Given the description of an element on the screen output the (x, y) to click on. 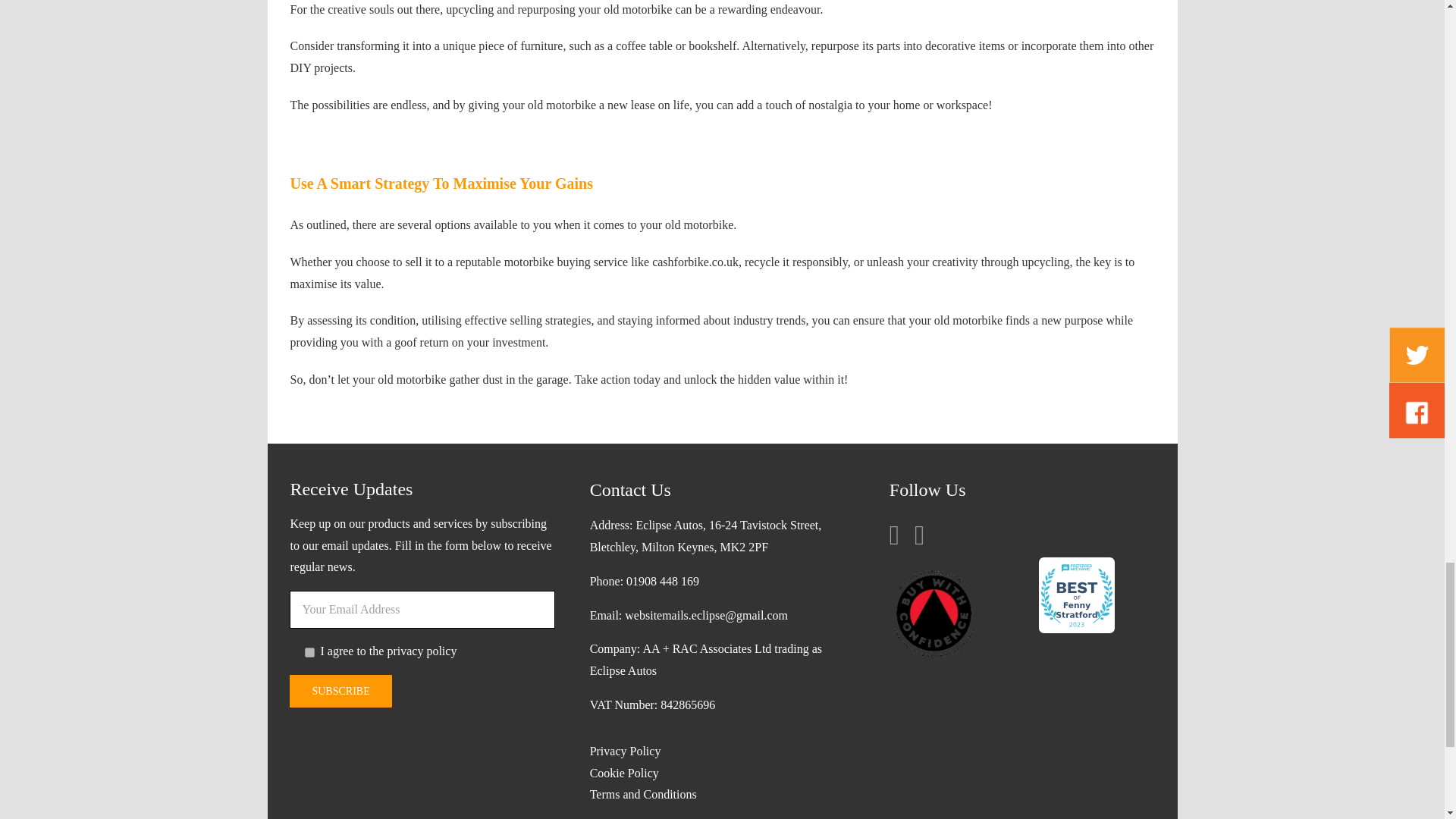
I agree to the (309, 652)
SUBSCRIBE (340, 690)
